Given the description of an element on the screen output the (x, y) to click on. 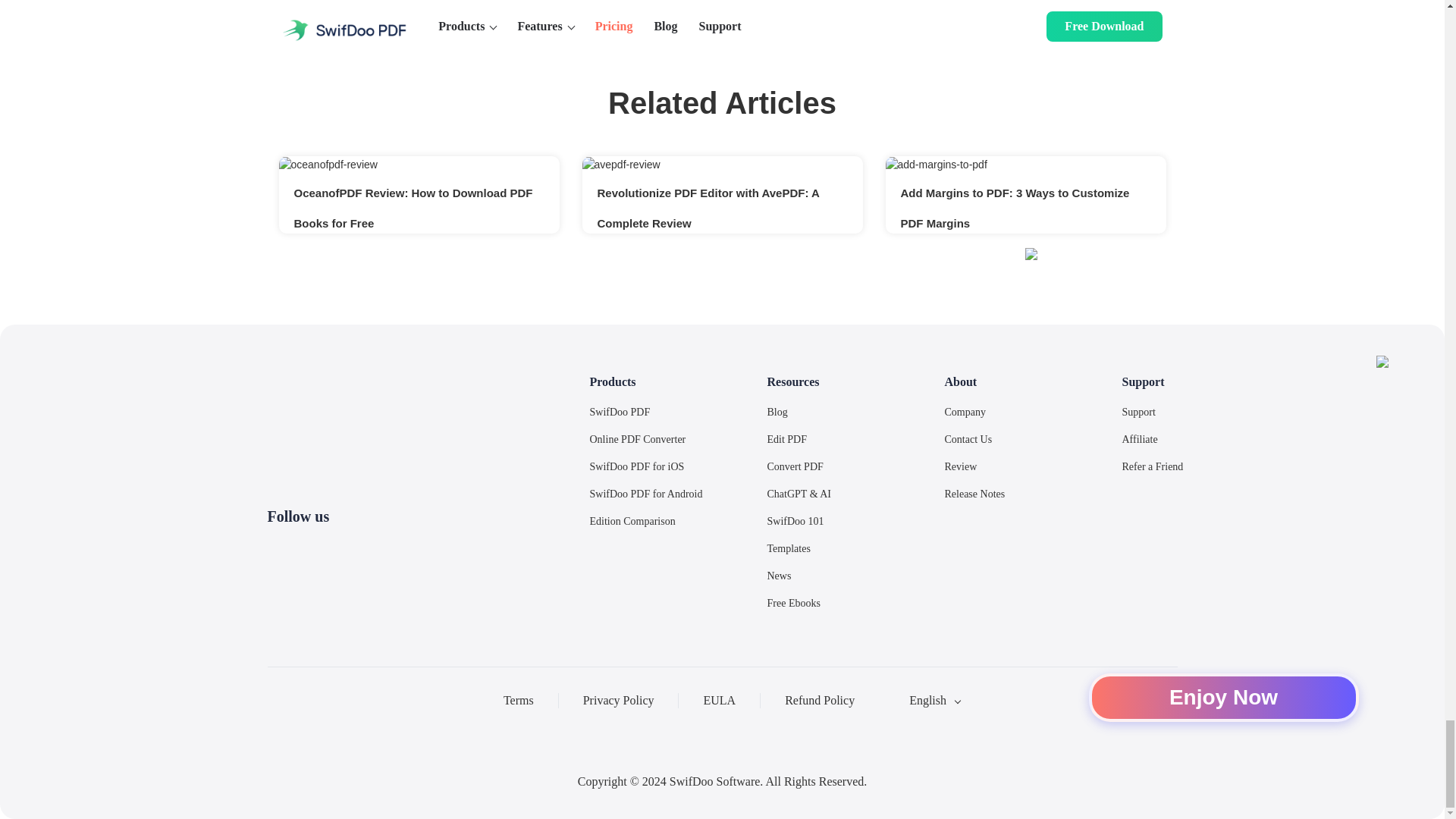
YouTube (386, 549)
